Given the description of an element on the screen output the (x, y) to click on. 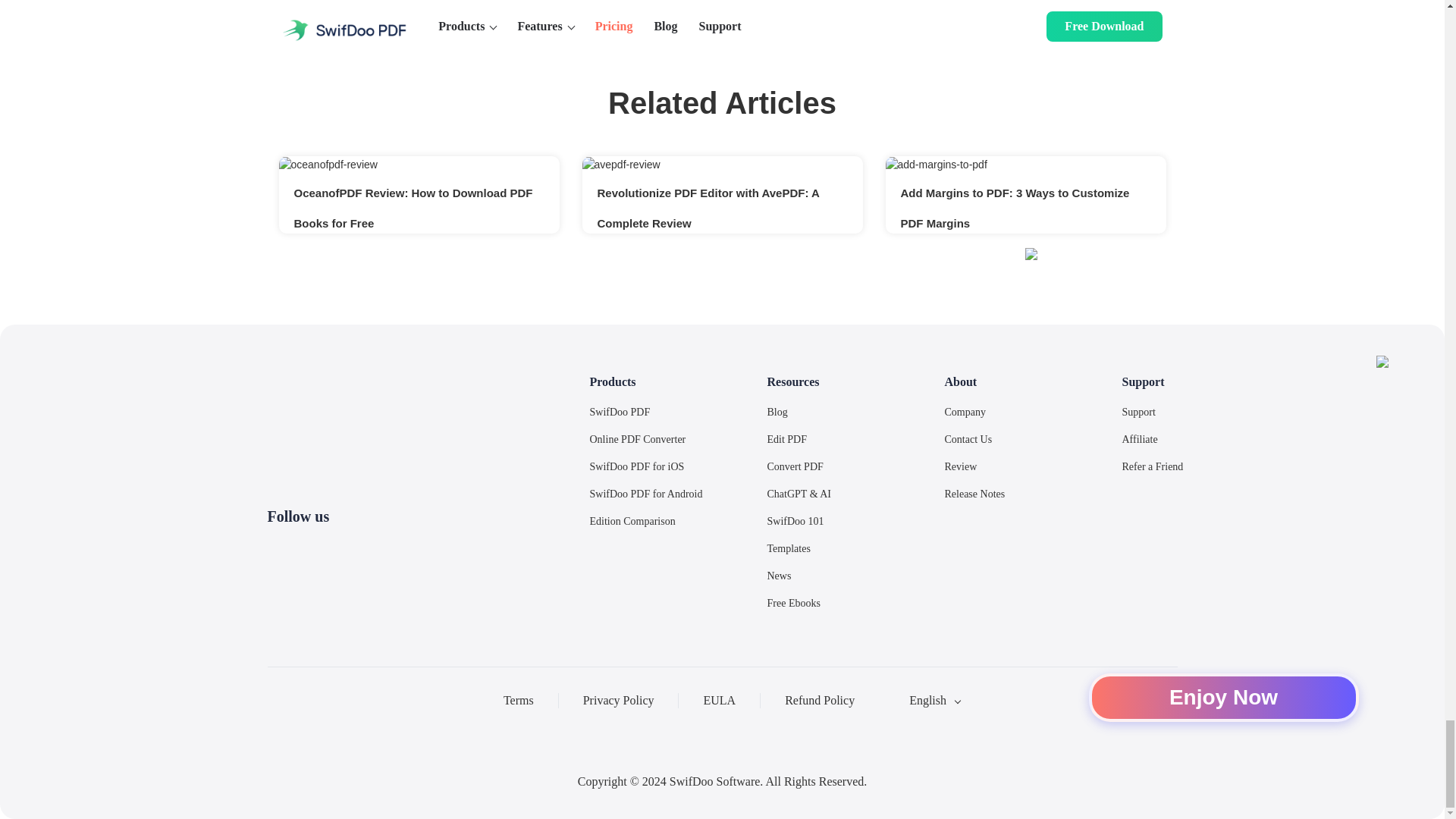
YouTube (386, 549)
